Given the description of an element on the screen output the (x, y) to click on. 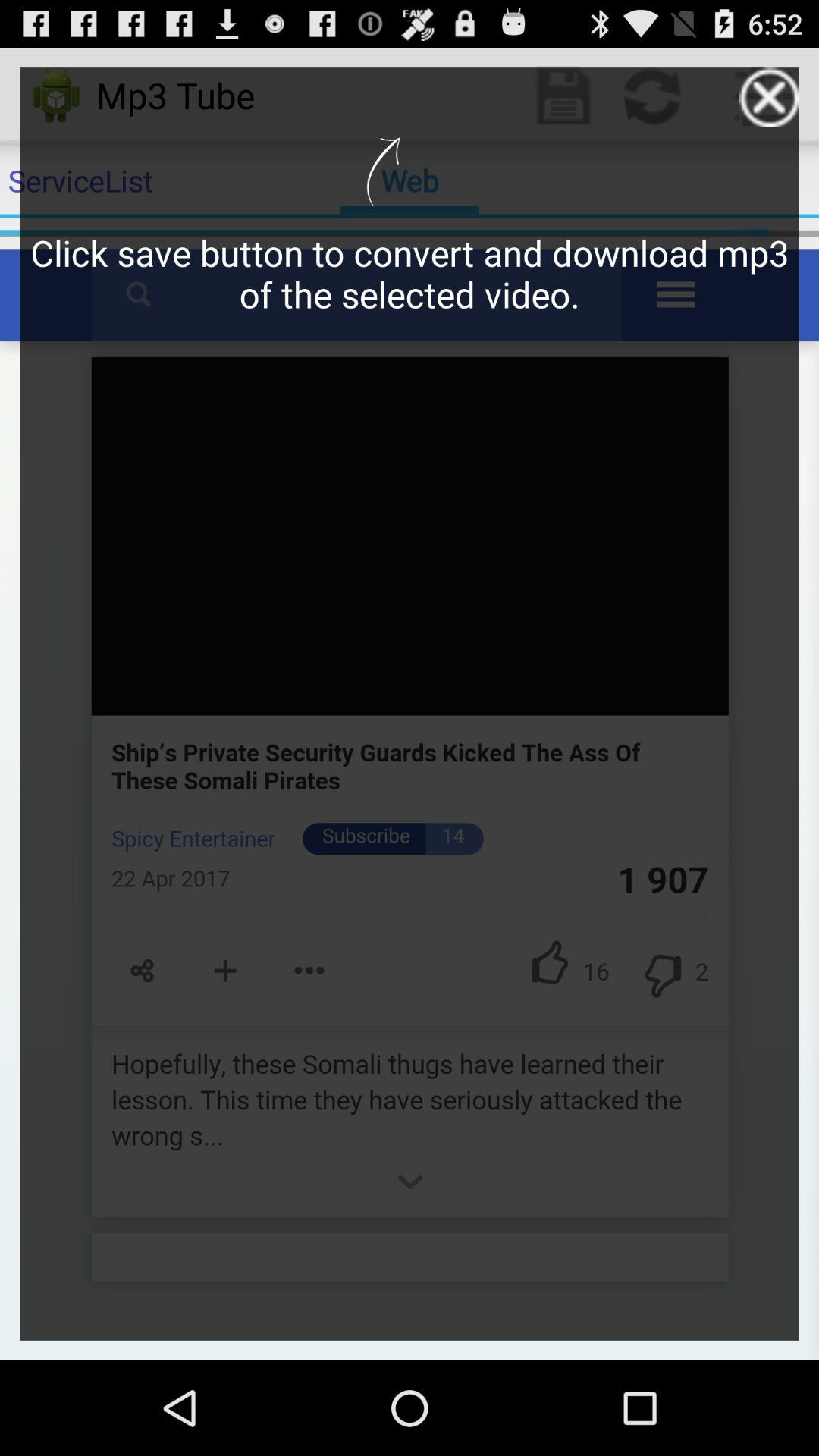
close video (769, 97)
